Given the description of an element on the screen output the (x, y) to click on. 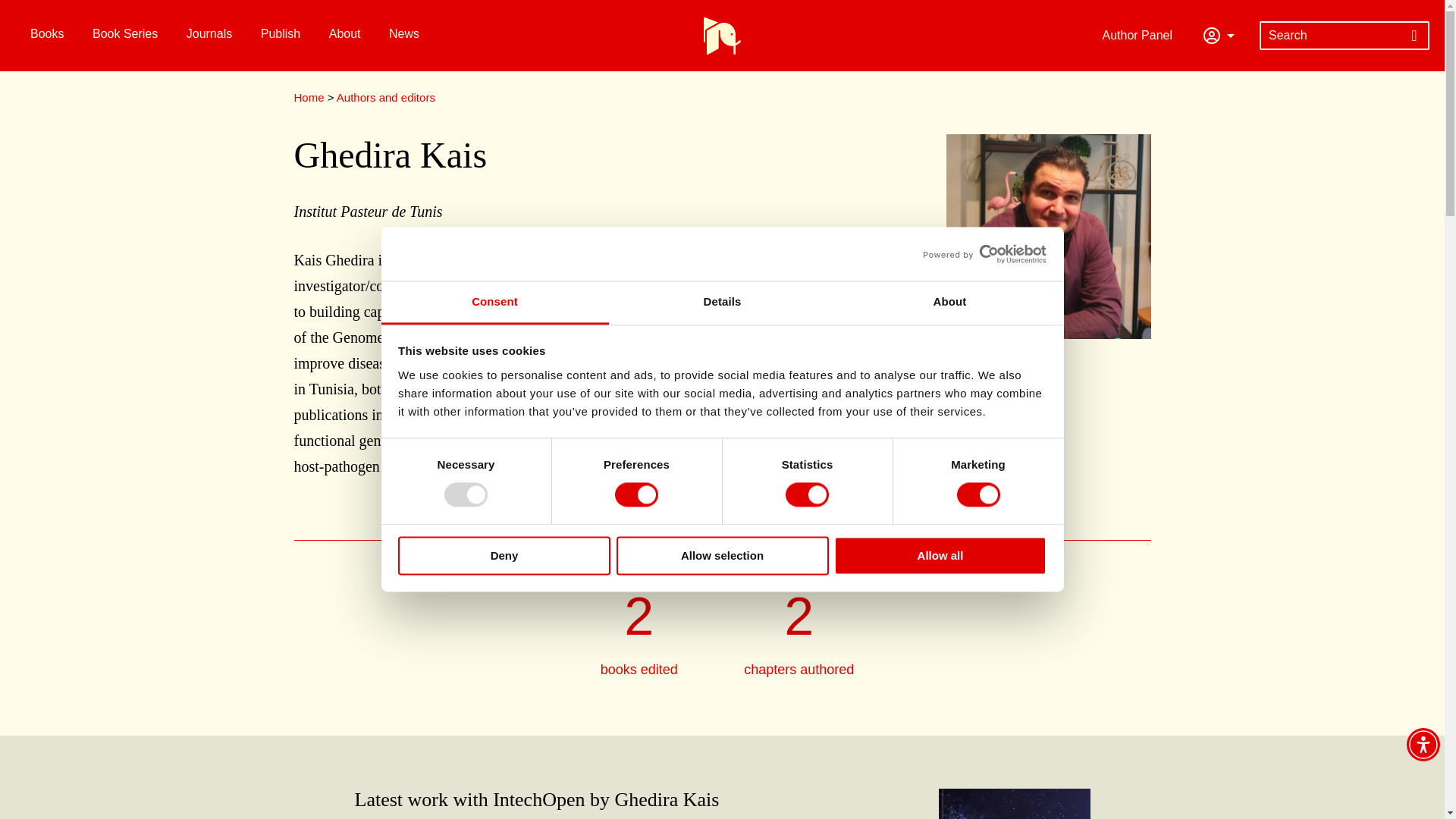
Consent (494, 302)
About (948, 302)
Accessibility Menu (1422, 744)
Details (721, 302)
